Given the description of an element on the screen output the (x, y) to click on. 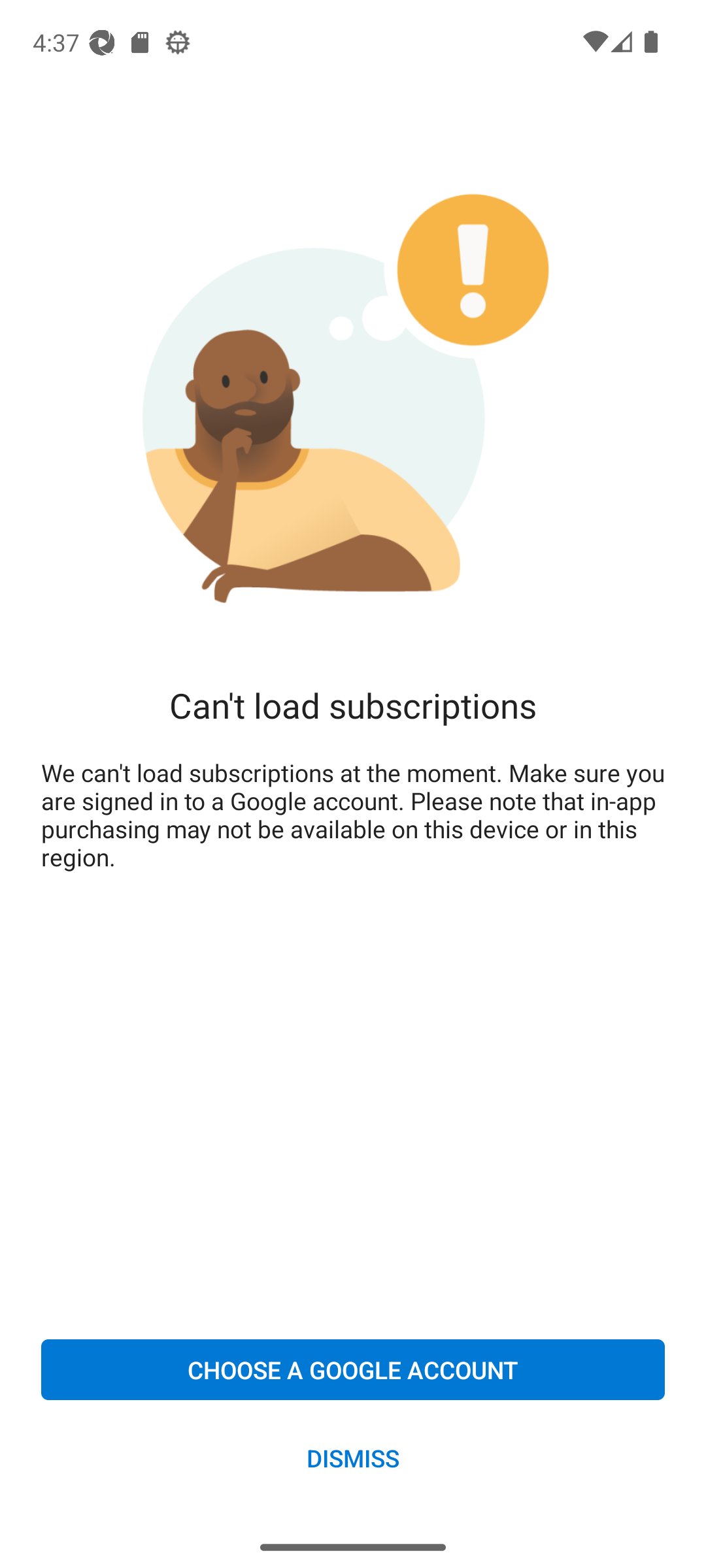
CHOOSE A GOOGLE ACCOUNT (352, 1369)
DISMISS (352, 1457)
